Given the description of an element on the screen output the (x, y) to click on. 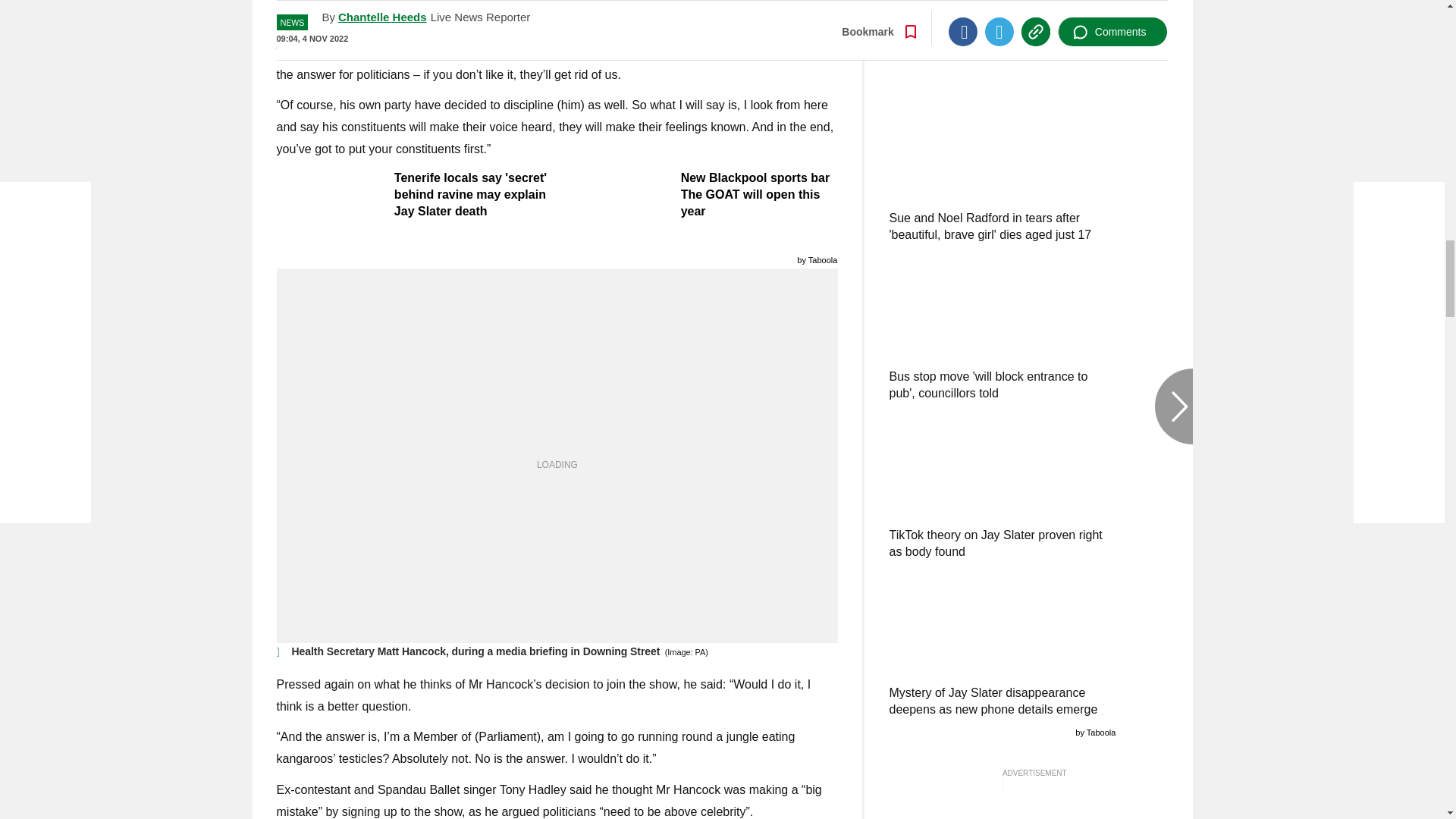
New Blackpool sports bar The GOAT will open this year (700, 194)
